Given the description of an element on the screen output the (x, y) to click on. 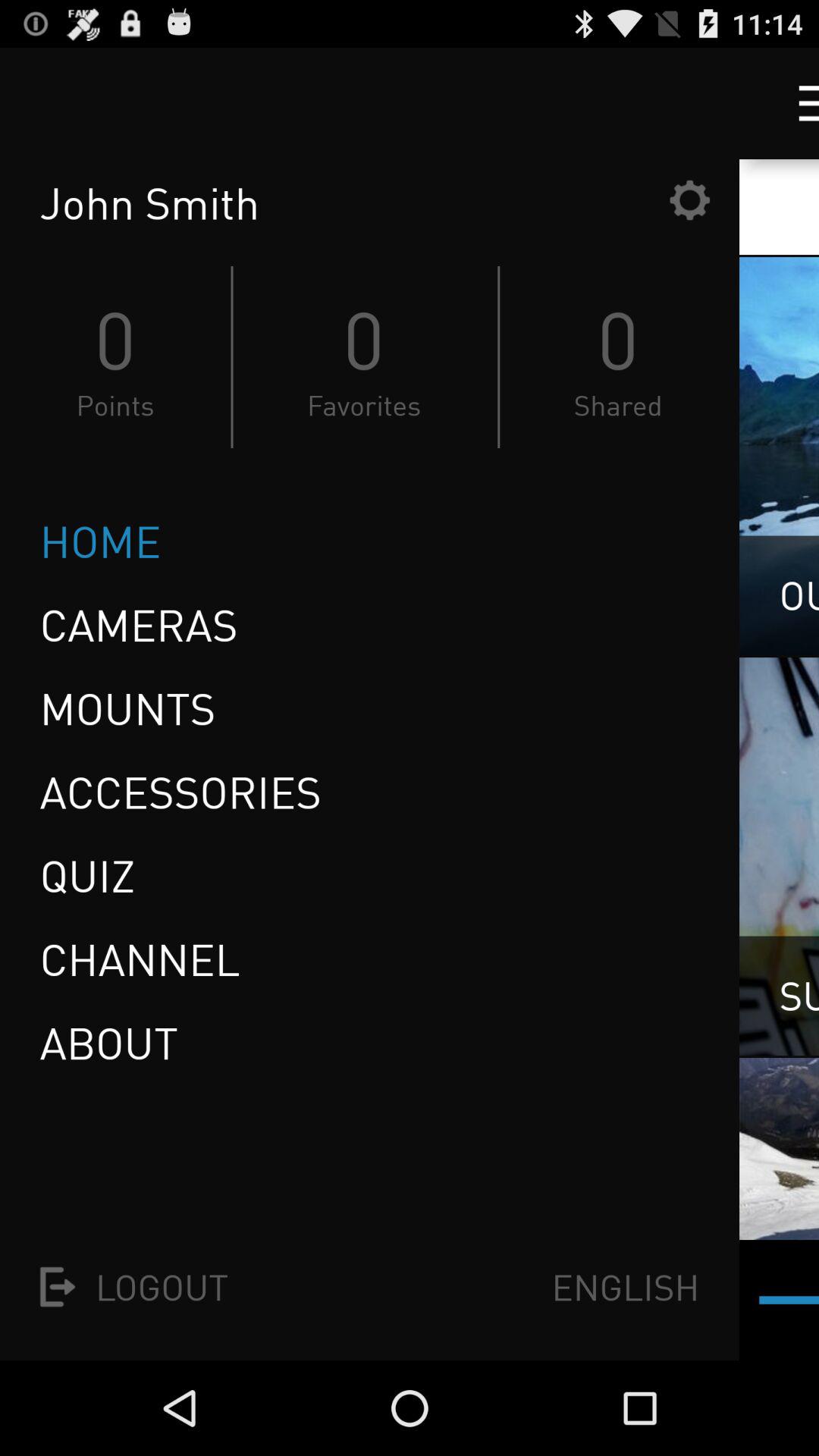
turn on cameras item (138, 624)
